Given the description of an element on the screen output the (x, y) to click on. 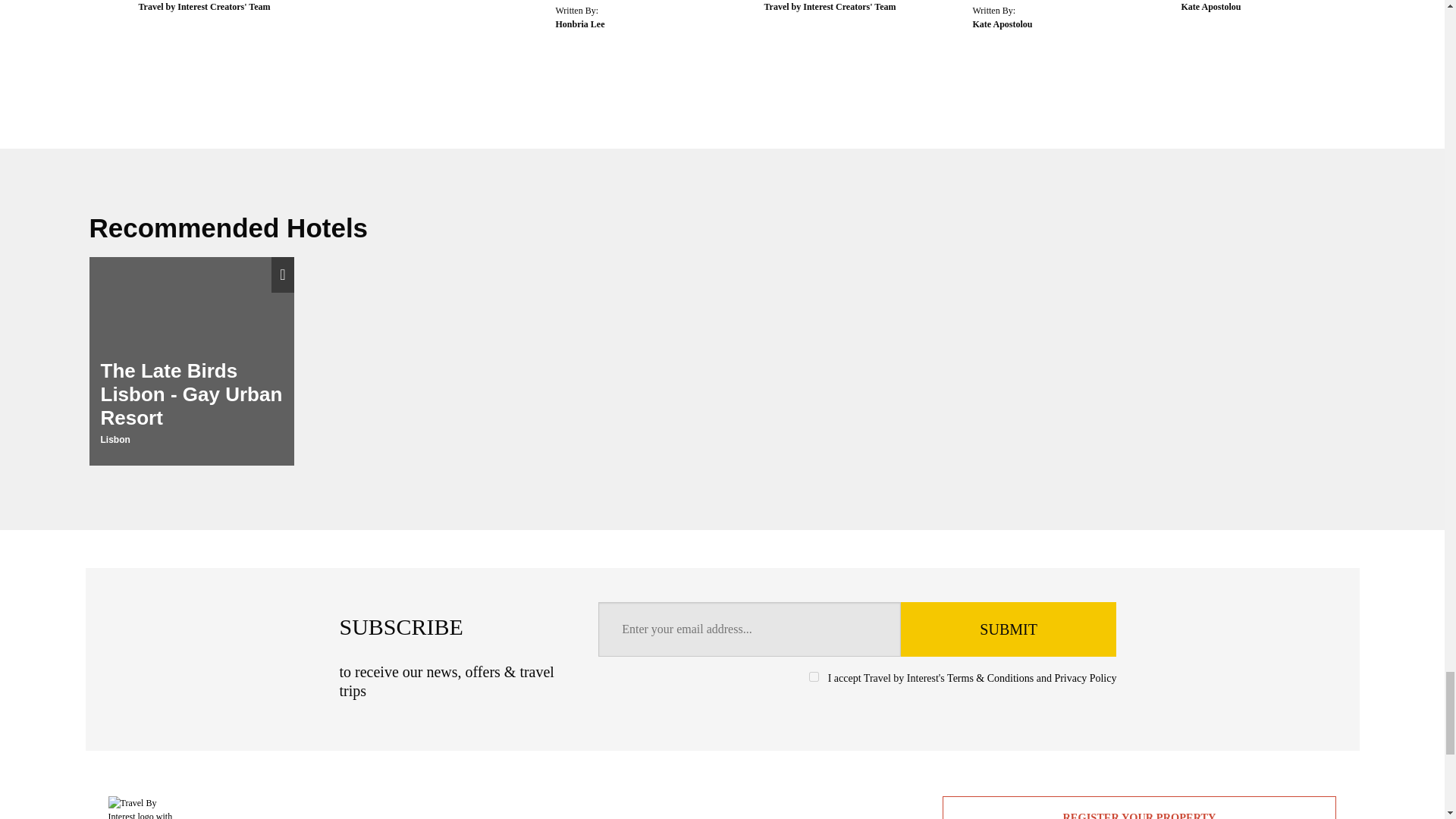
1 (813, 676)
